Given the description of an element on the screen output the (x, y) to click on. 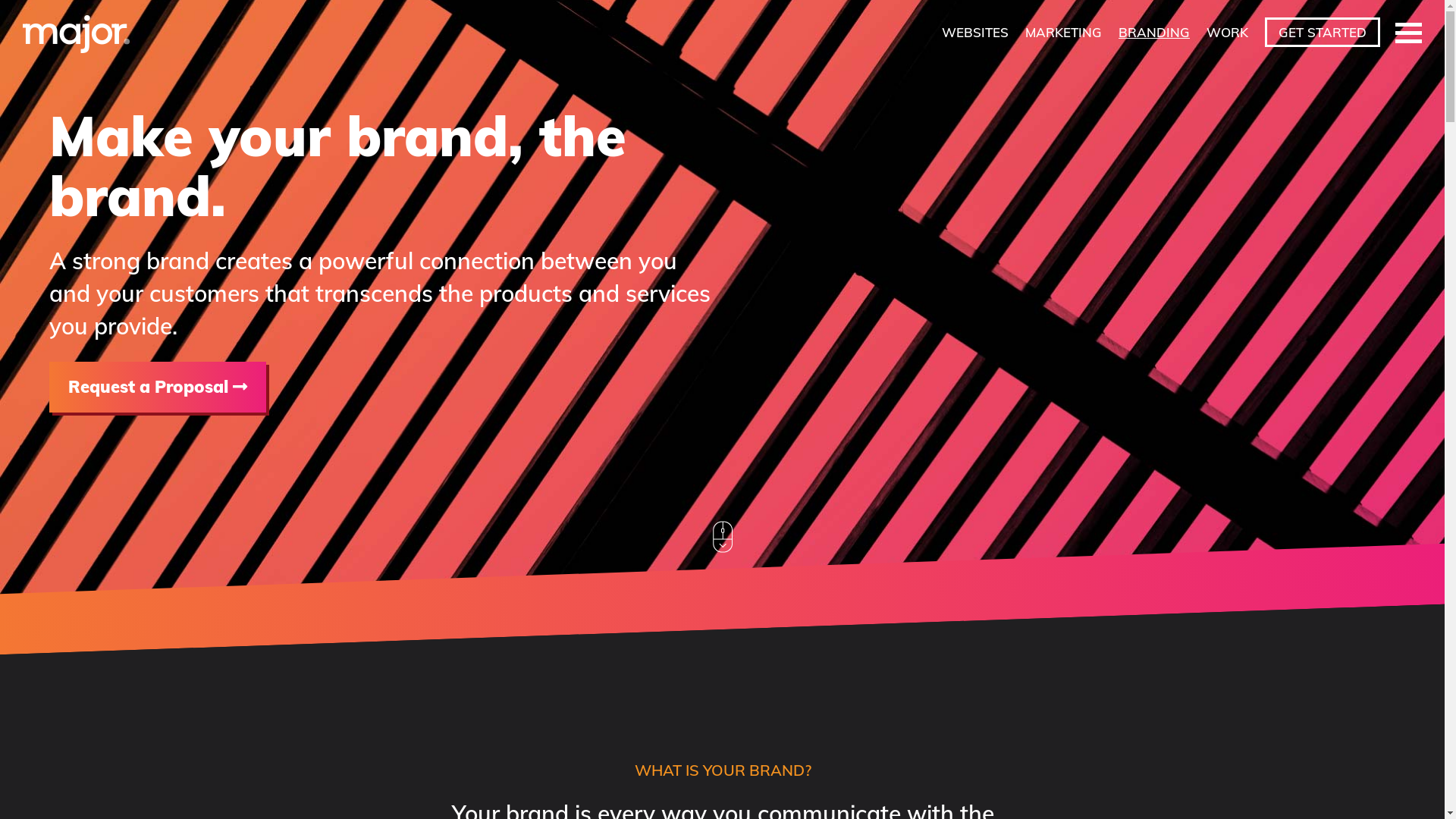
MARKETING Element type: text (1063, 32)
WEBSITES Element type: text (974, 32)
Request a Proposal Element type: text (157, 386)
BRANDING Element type: text (1153, 32)
GET STARTED Element type: text (1322, 32)
Marketing Element type: text (782, 601)
Suite 686, Level 2
1341 Dandenong Road, Chadstone 3148 Element type: text (1128, 676)
WORK Element type: text (1227, 32)
1300 782 262 Element type: text (1095, 601)
Branding Element type: text (779, 651)
The Proof Element type: text (482, 651)
The Story Element type: text (482, 601)
The Work Element type: text (483, 626)
Websites Element type: text (779, 626)
Message Us Element type: text (1087, 626)
PRIVACY POLICY Element type: text (347, 790)
